Given the description of an element on the screen output the (x, y) to click on. 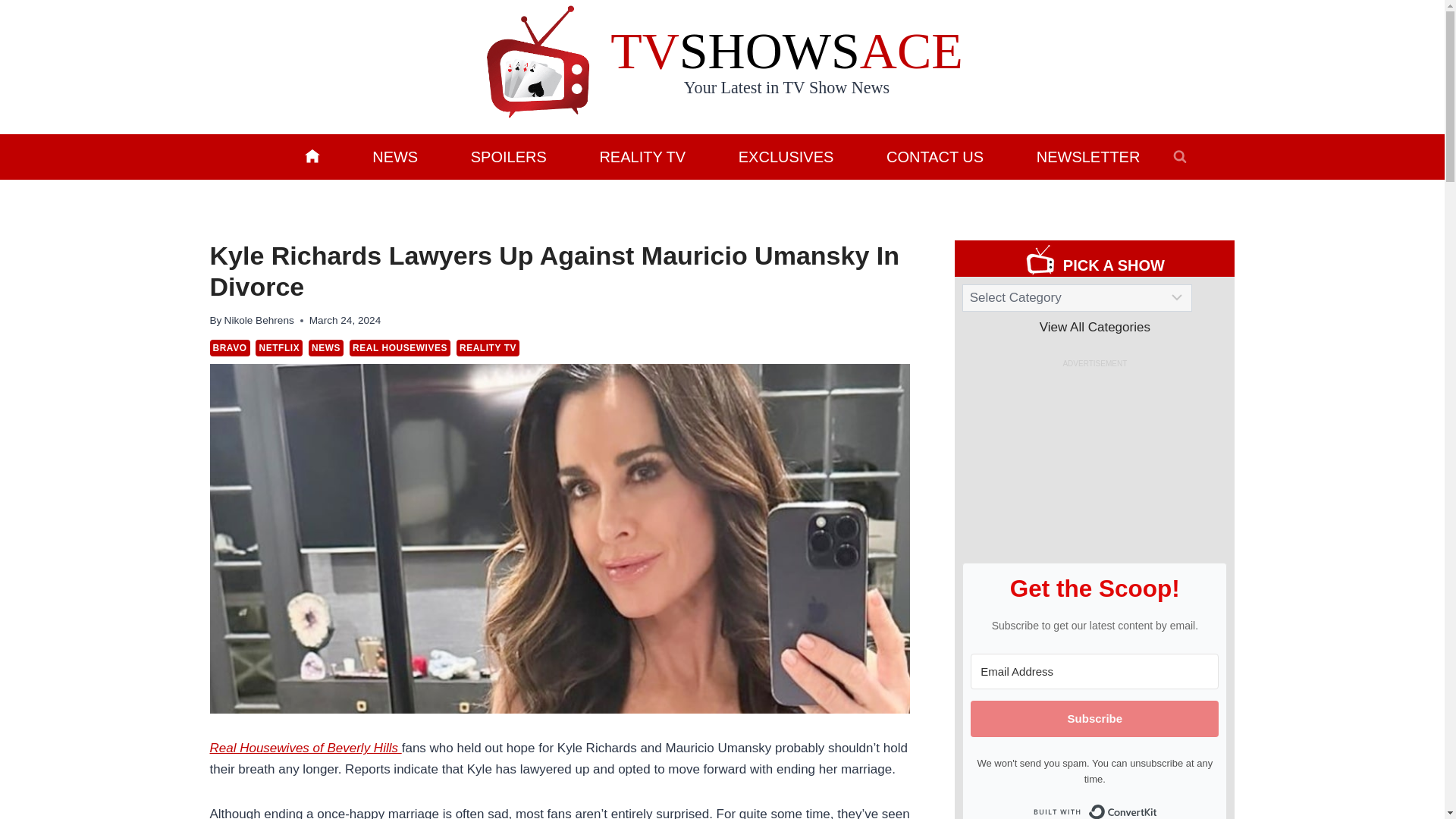
NEWS (325, 347)
Nikole Behrens (259, 319)
NEWS (395, 156)
REALITY TV (642, 156)
NEWSLETTER (1088, 156)
BRAVO (228, 347)
Real Housewives of Beverly Hills (305, 748)
NETFLIX (279, 347)
SPOILERS (508, 156)
EXCLUSIVES (785, 156)
REAL HOUSEWIVES (399, 347)
CONTACT US (935, 156)
REALITY TV (488, 347)
